Given the description of an element on the screen output the (x, y) to click on. 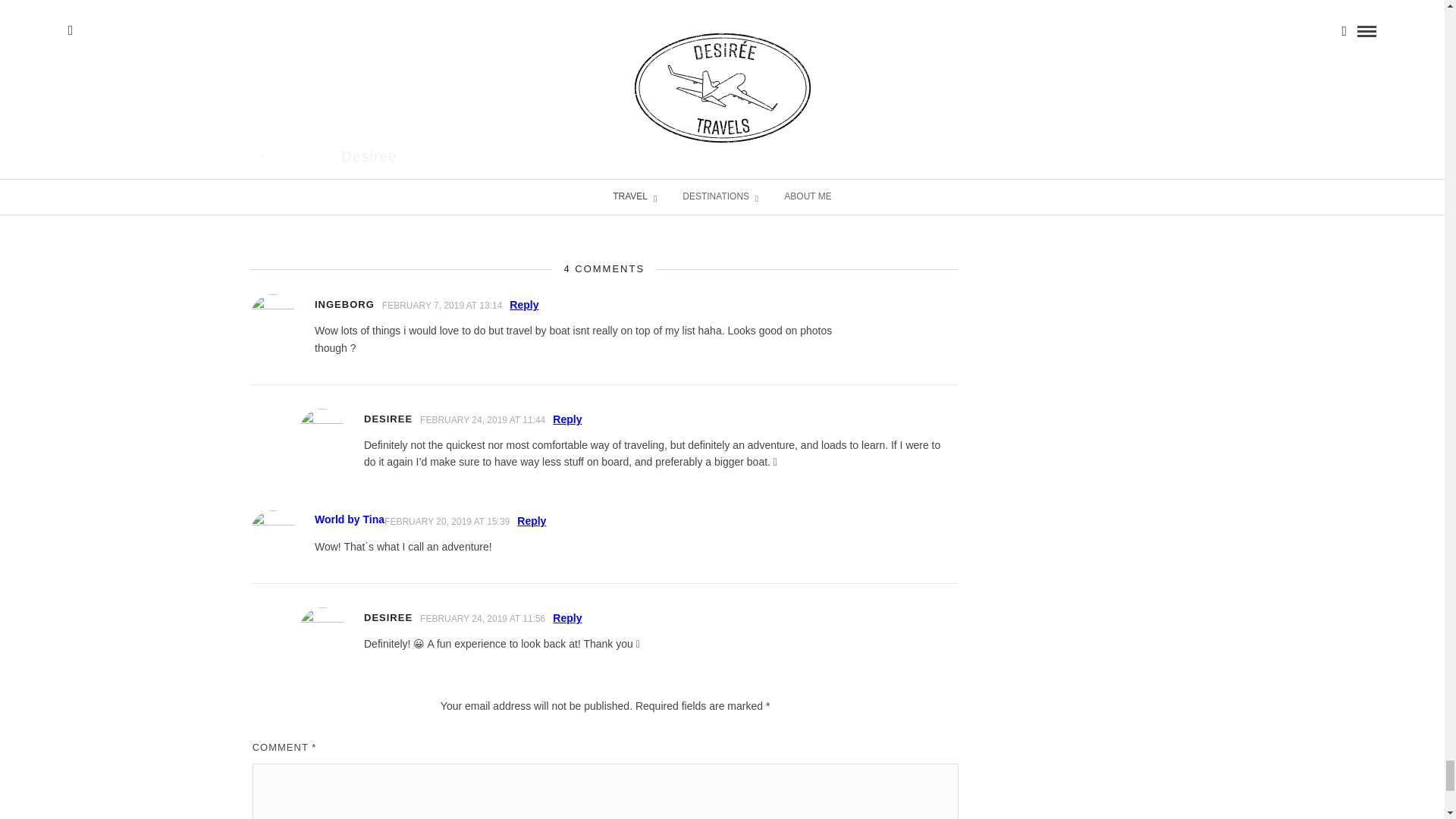
Share On Twitter (629, 62)
Share On Pinterest (699, 62)
Share by Email (749, 62)
Share On Facebook (508, 62)
